Given the description of an element on the screen output the (x, y) to click on. 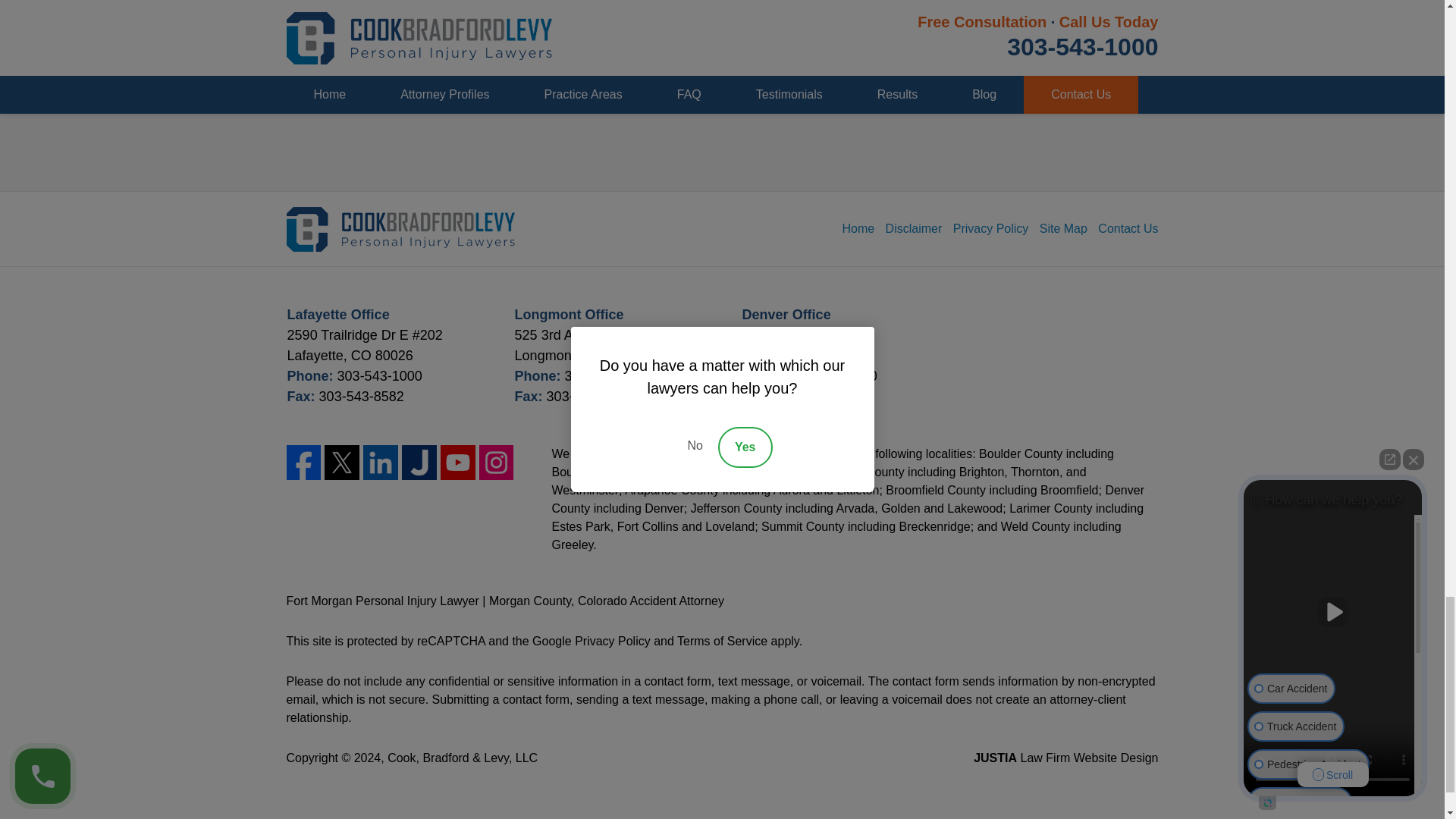
YouTube (458, 462)
LinkedIn (379, 462)
Twitter (341, 462)
Justia (418, 462)
Facebook (303, 462)
Instagram (496, 462)
